Given the description of an element on the screen output the (x, y) to click on. 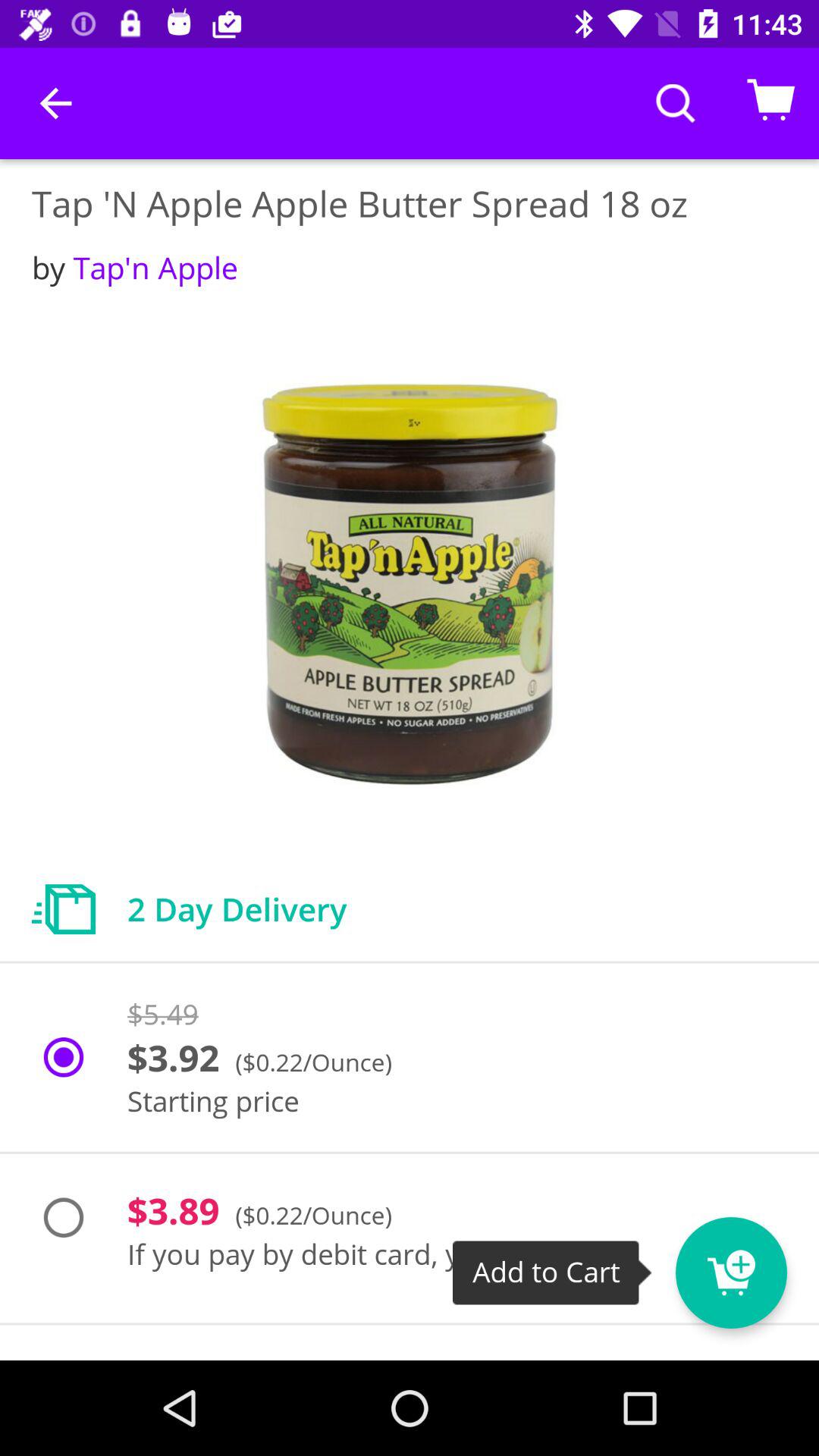
press item above tap n apple (55, 103)
